Given the description of an element on the screen output the (x, y) to click on. 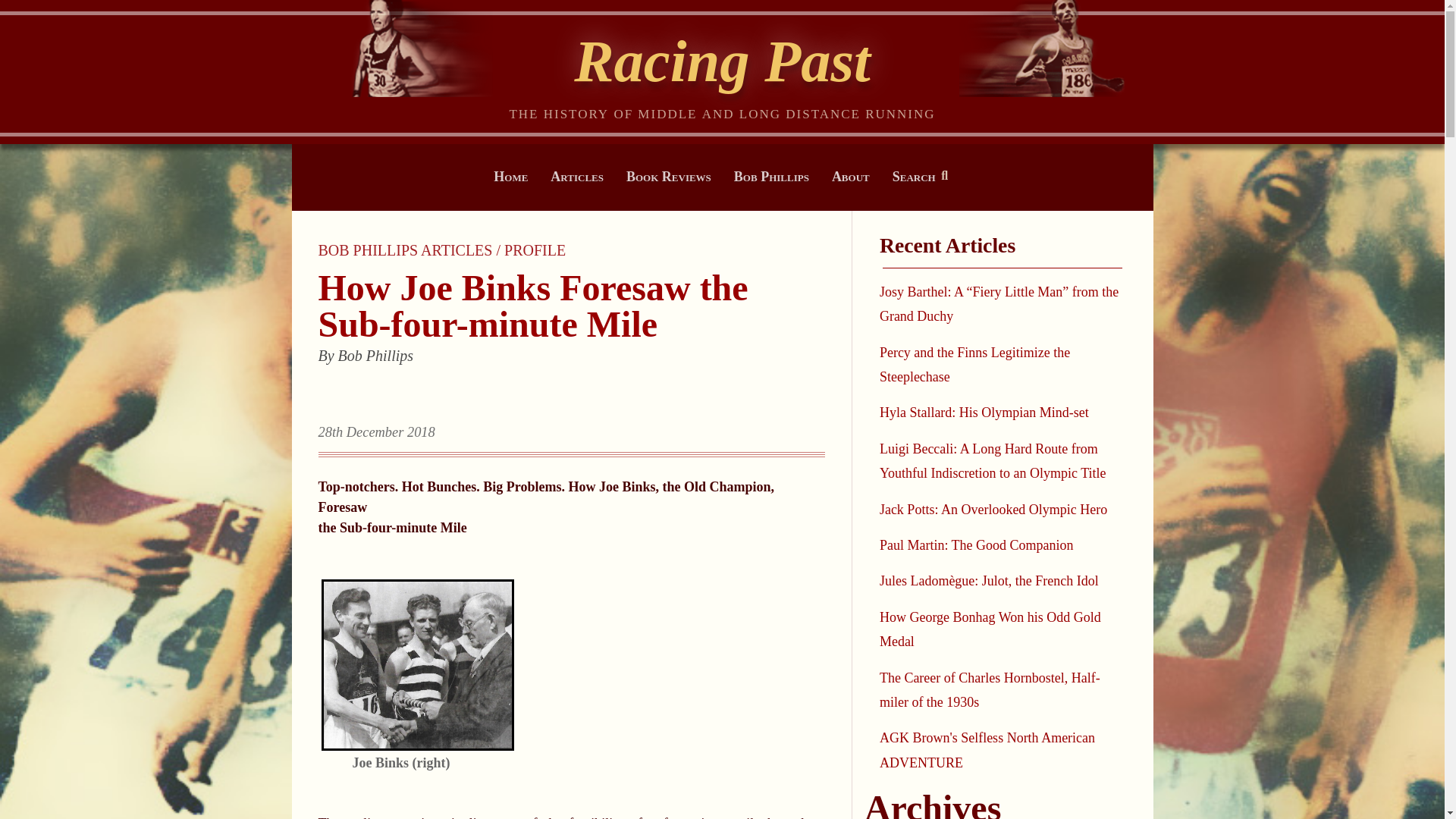
Articles (577, 176)
Home (510, 176)
Racing Past (721, 60)
